Given the description of an element on the screen output the (x, y) to click on. 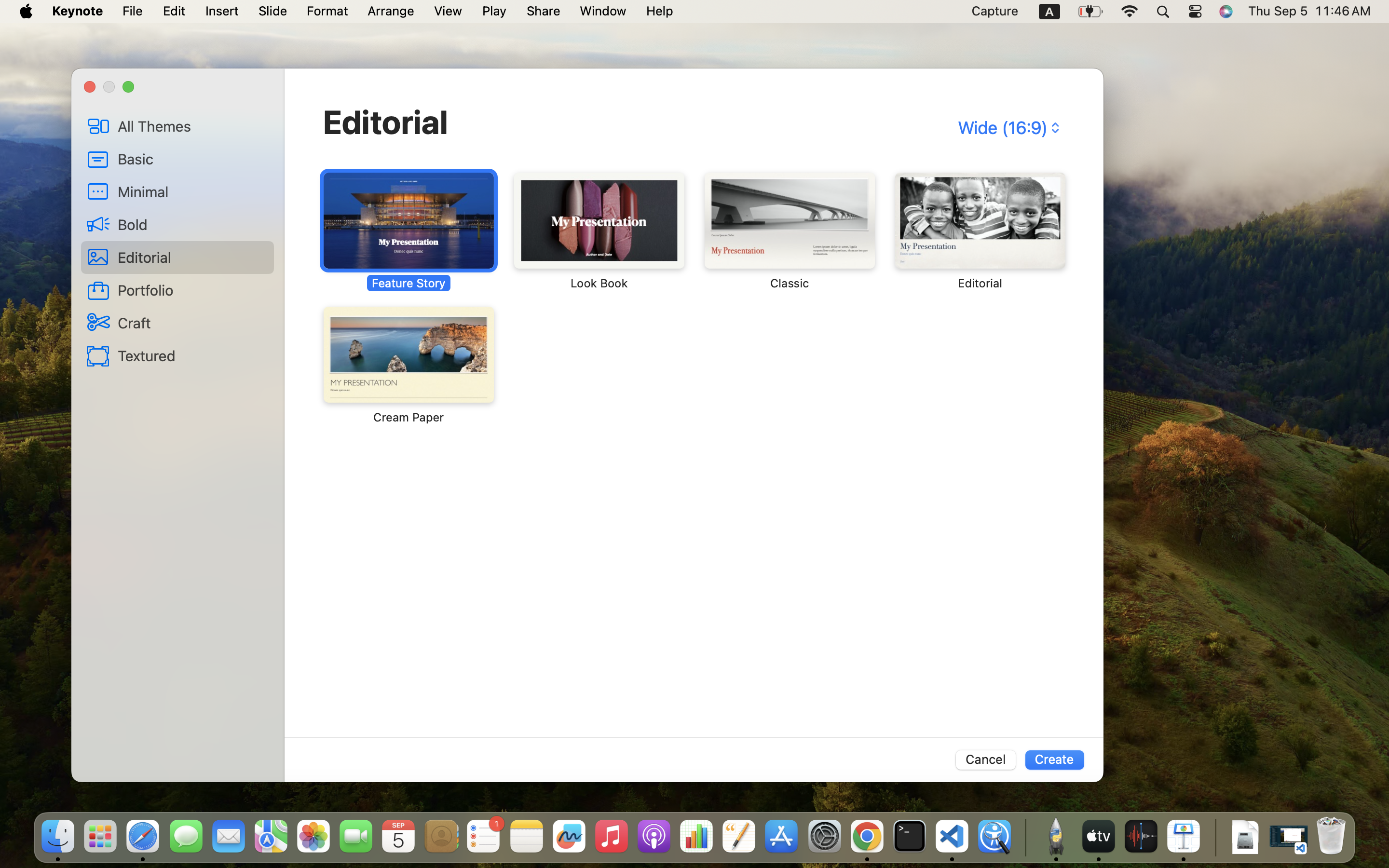
Craft Element type: AXStaticText (191, 322)
‎⁨Look Book⁩ Element type: AXButton (598, 230)
Basic Element type: AXStaticText (191, 158)
Wide (16:9) Element type: AXPopUpButton (1007, 127)
‎⁨Classic⁩ Element type: AXButton (789, 230)
